Given the description of an element on the screen output the (x, y) to click on. 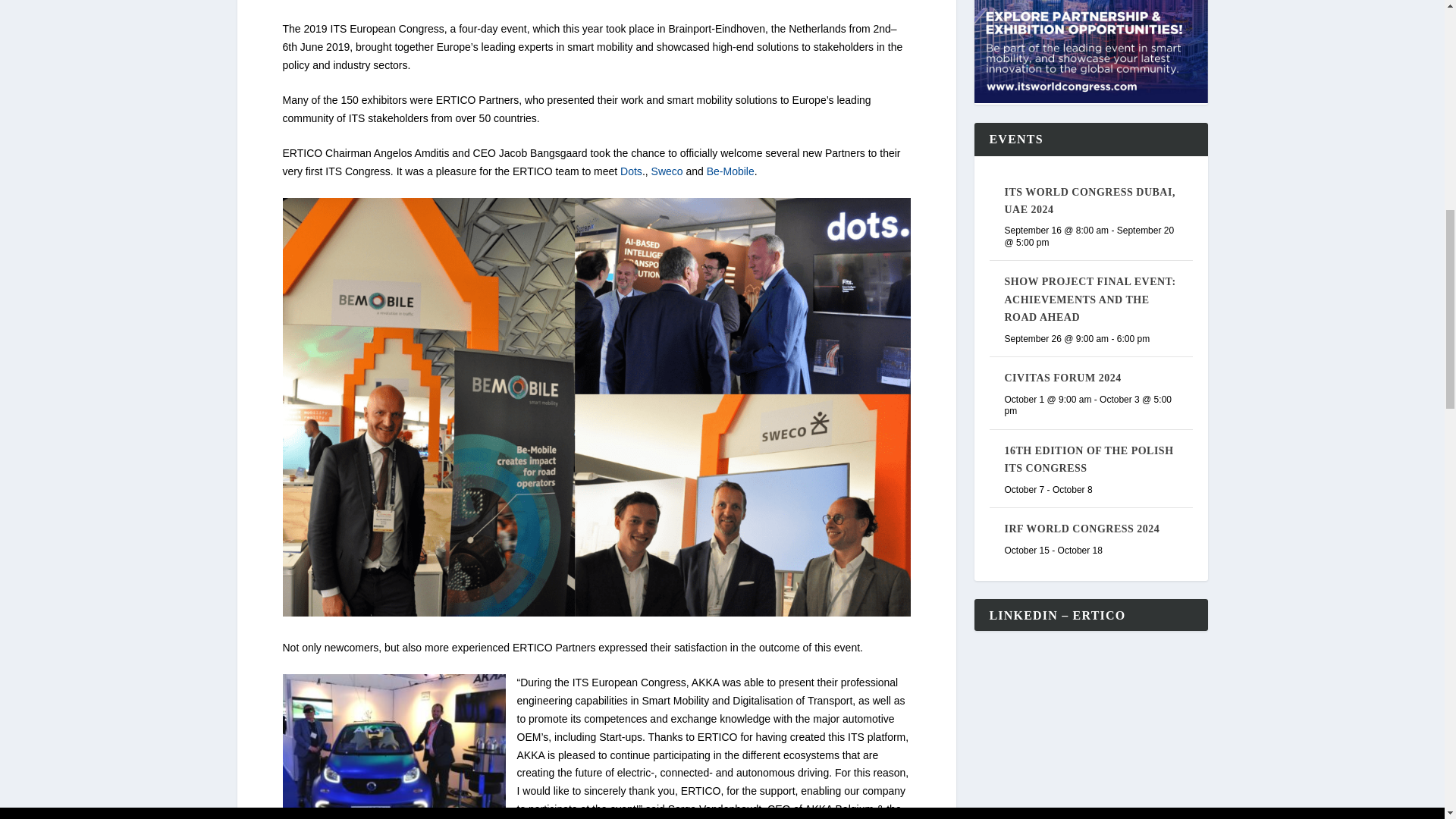
Sweco (666, 171)
Dots (631, 171)
Be-Mobile (730, 171)
